Given the description of an element on the screen output the (x, y) to click on. 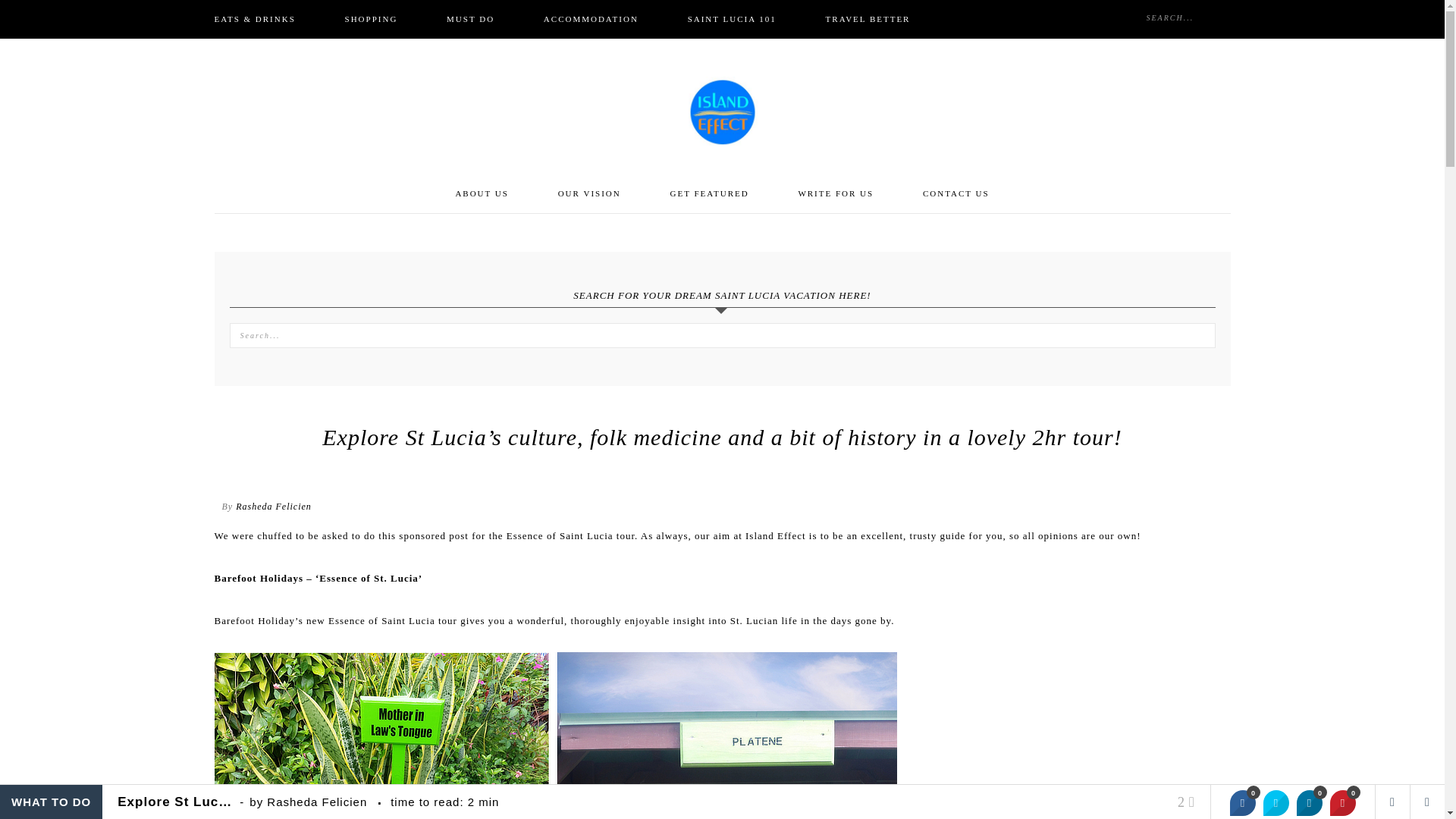
OUR VISION (589, 193)
Share on Pinterest (1342, 802)
MUST DO (469, 19)
Share on Facebook (1242, 802)
SAINT LUCIA 101 (732, 19)
ISLAND EFFECT (721, 111)
Share on Twitter (1275, 802)
Share on Linkedin (1309, 802)
